Given the description of an element on the screen output the (x, y) to click on. 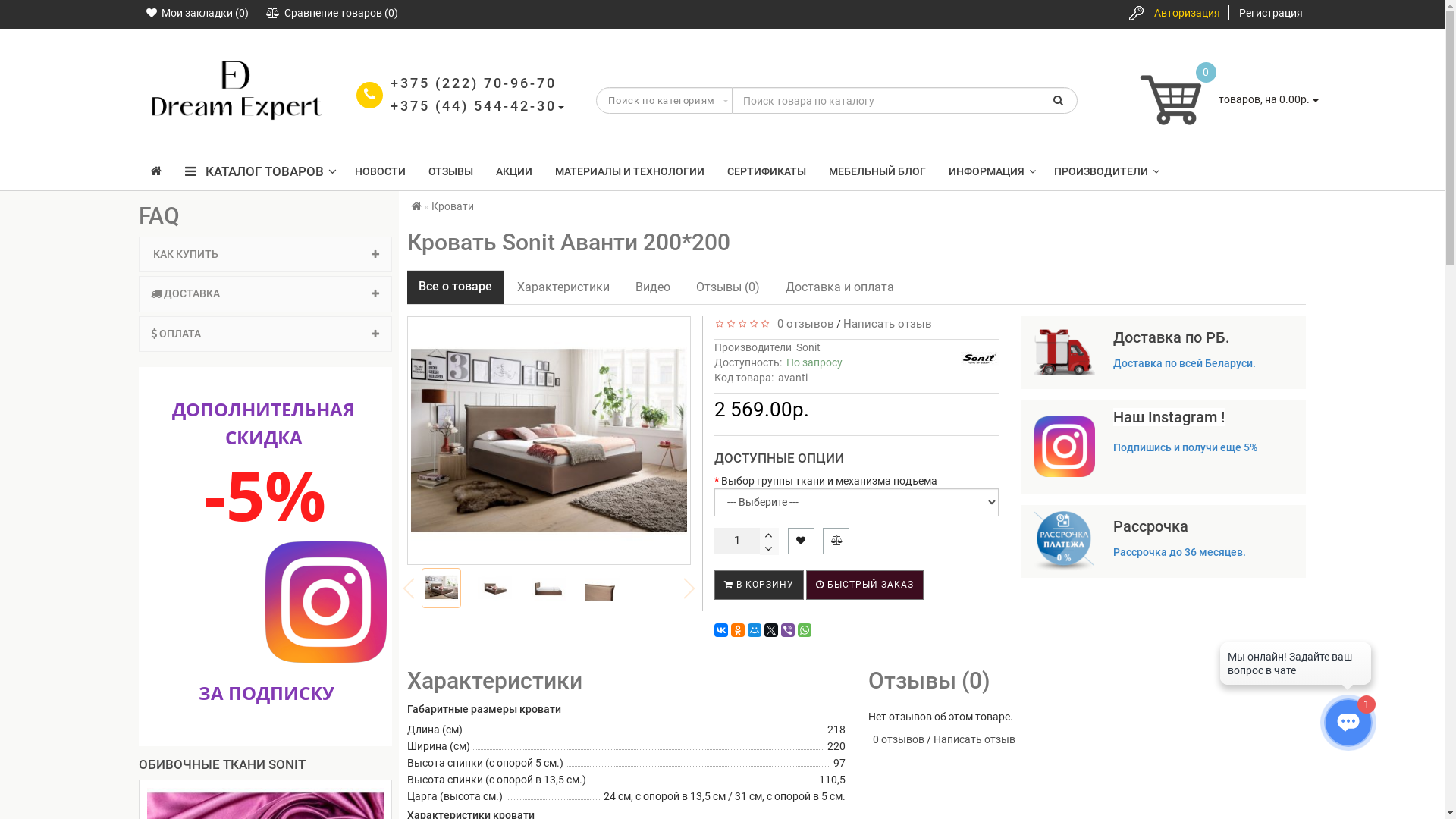
Sonit Element type: hover (979, 358)
+375 (222) 70-96-70 Element type: text (473, 83)
Sonit Element type: text (808, 347)
amoCRM Live Chat Element type: hover (1295, 667)
  Element type: text (768, 548)
  Element type: text (768, 534)
WhatsApp Element type: hover (804, 630)
Viber Element type: hover (787, 630)
+375 (44) 544-42-30 Element type: text (473, 105)
Twitter Element type: hover (771, 630)
cart Element type: hover (1173, 100)
